Given the description of an element on the screen output the (x, y) to click on. 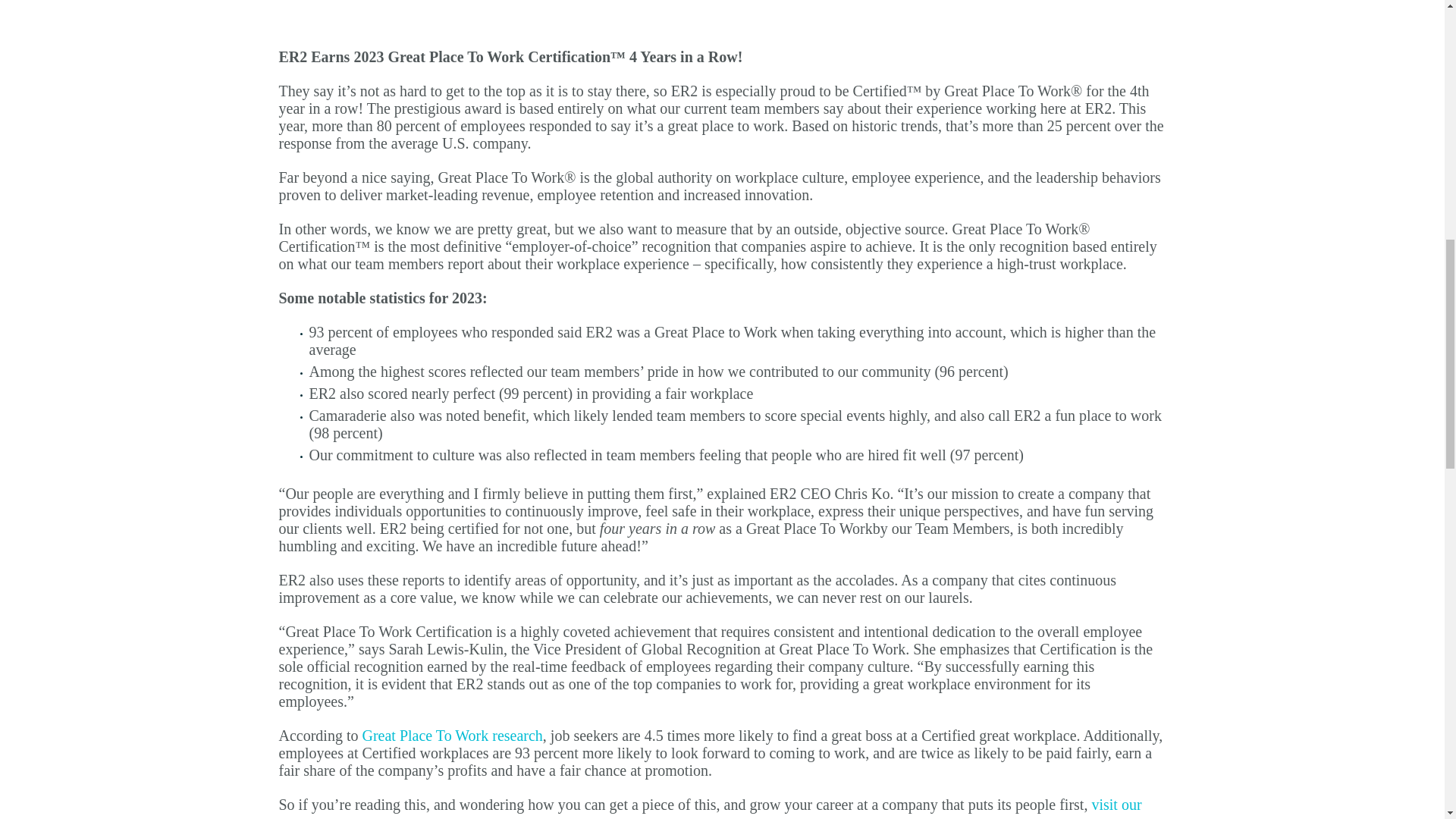
visit our careers page (710, 807)
Great Place To Work research (451, 735)
